Given the description of an element on the screen output the (x, y) to click on. 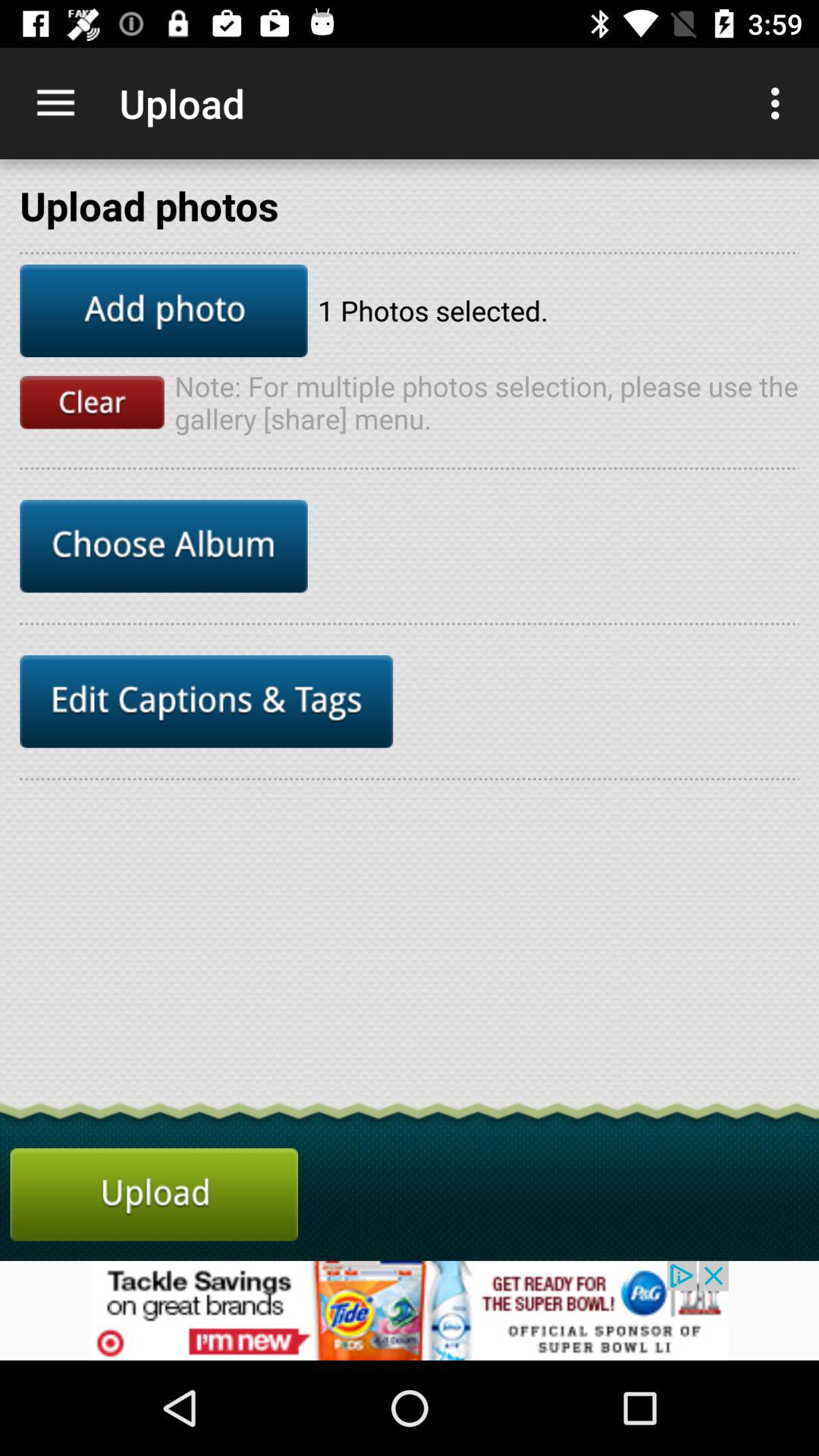
upload (154, 1194)
